Given the description of an element on the screen output the (x, y) to click on. 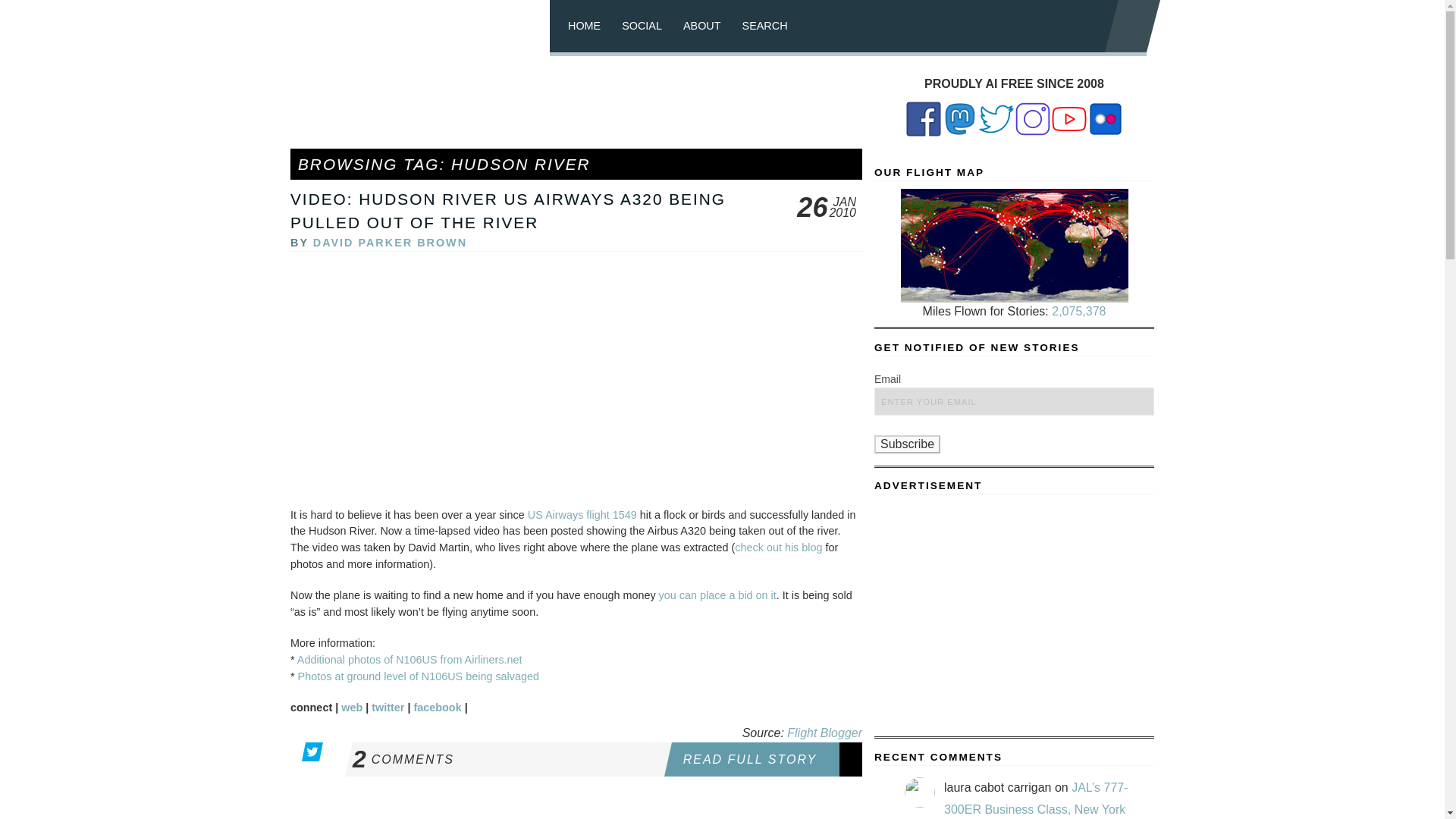
web (351, 707)
Flight Blogger (824, 732)
twitter (387, 707)
2,075,378 (1078, 310)
READ FULL STORY (766, 759)
facebook (437, 707)
Posts by David Parker Brown (390, 242)
Additional photos of N106US from Airliners.net (409, 659)
check out his blog (778, 547)
Advertisement (575, 109)
Subscribe (507, 759)
US Airways flight 1549 (907, 443)
AirlineReporter (582, 514)
